Given the description of an element on the screen output the (x, y) to click on. 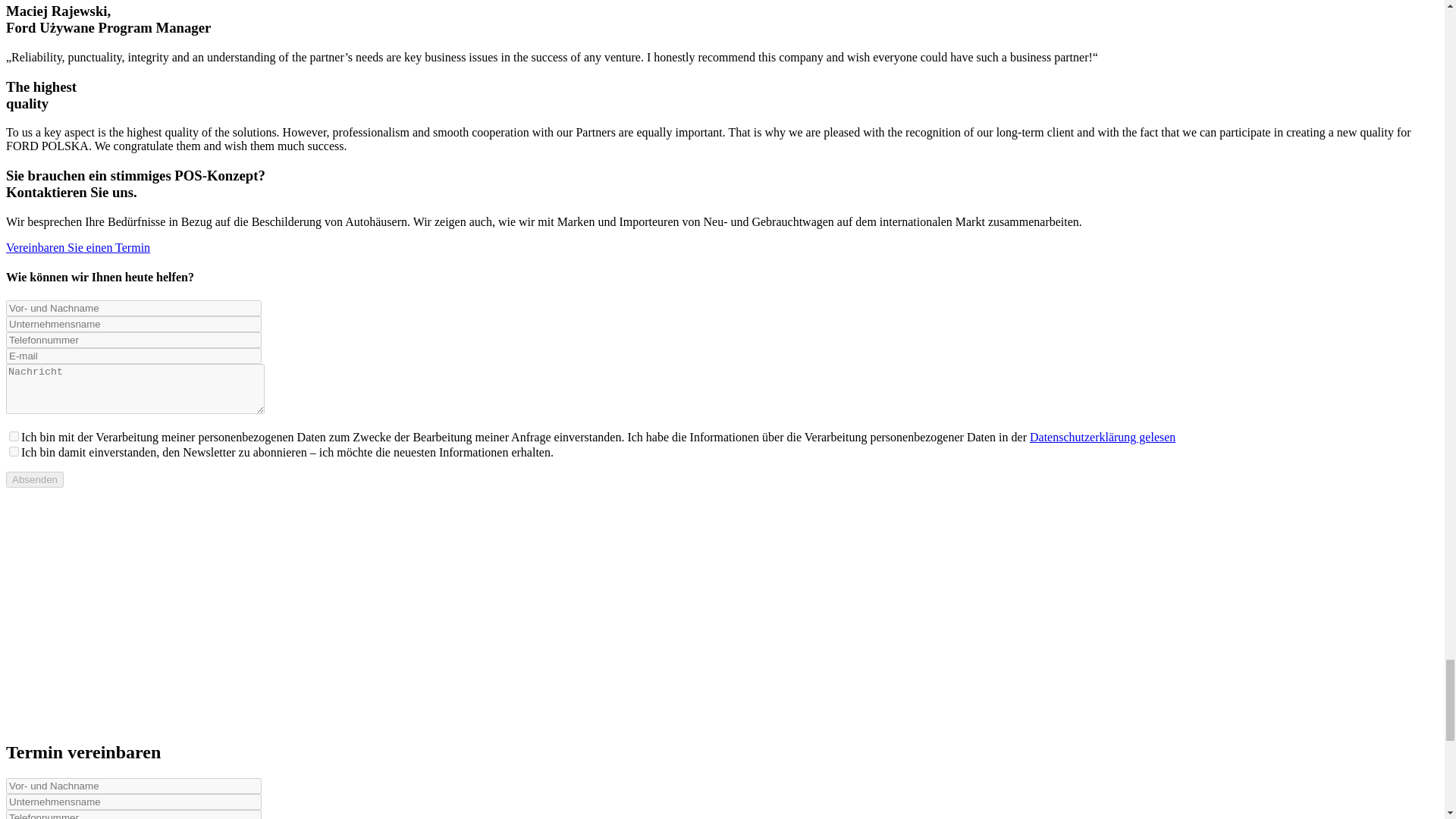
1 (13, 451)
1 (13, 436)
Absenden (34, 479)
